Given the description of an element on the screen output the (x, y) to click on. 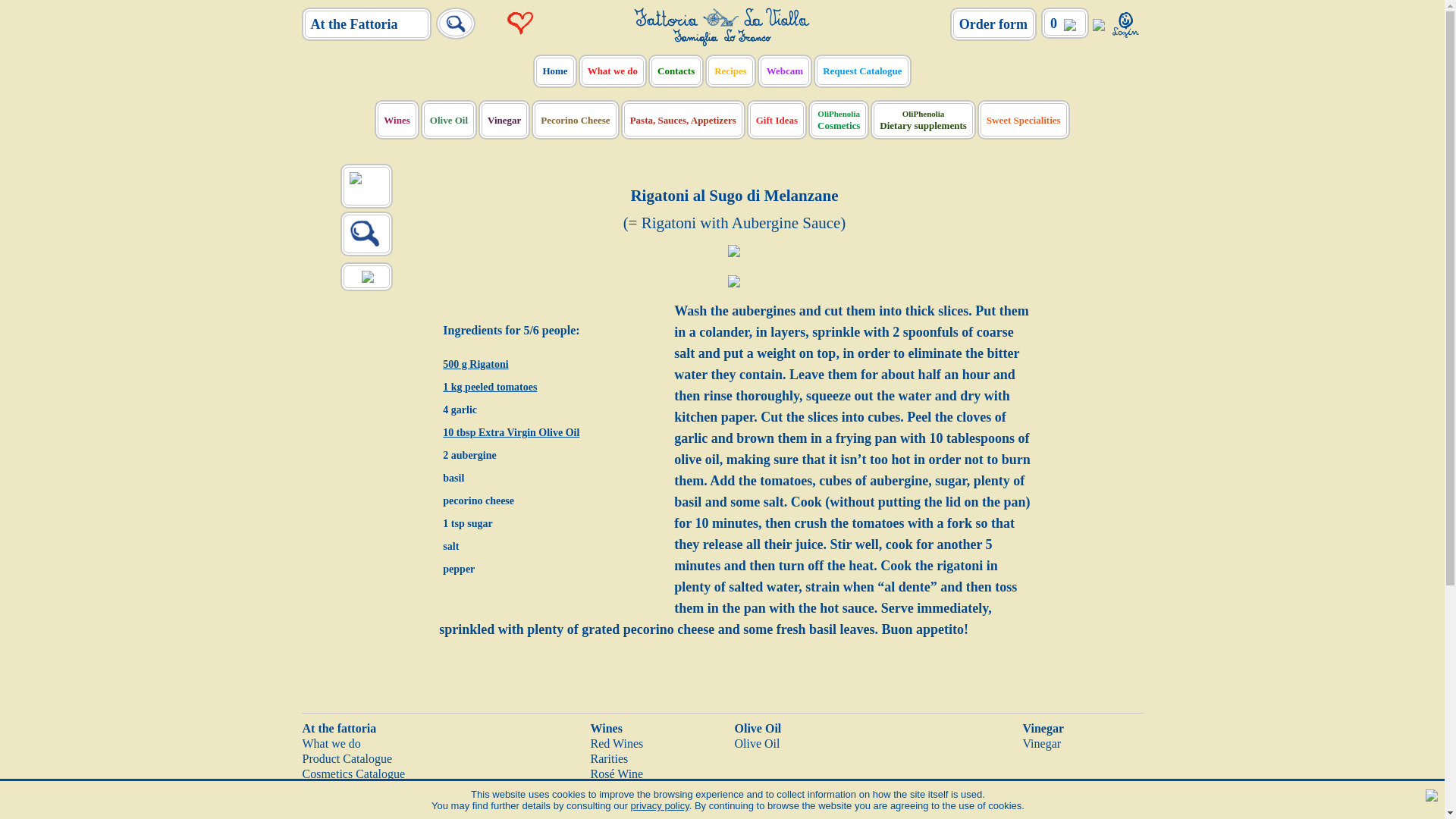
0 (1064, 23)
Wishlist (520, 22)
Search (455, 23)
At the Fattoria (366, 23)
Select Country (1098, 23)
